Given the description of an element on the screen output the (x, y) to click on. 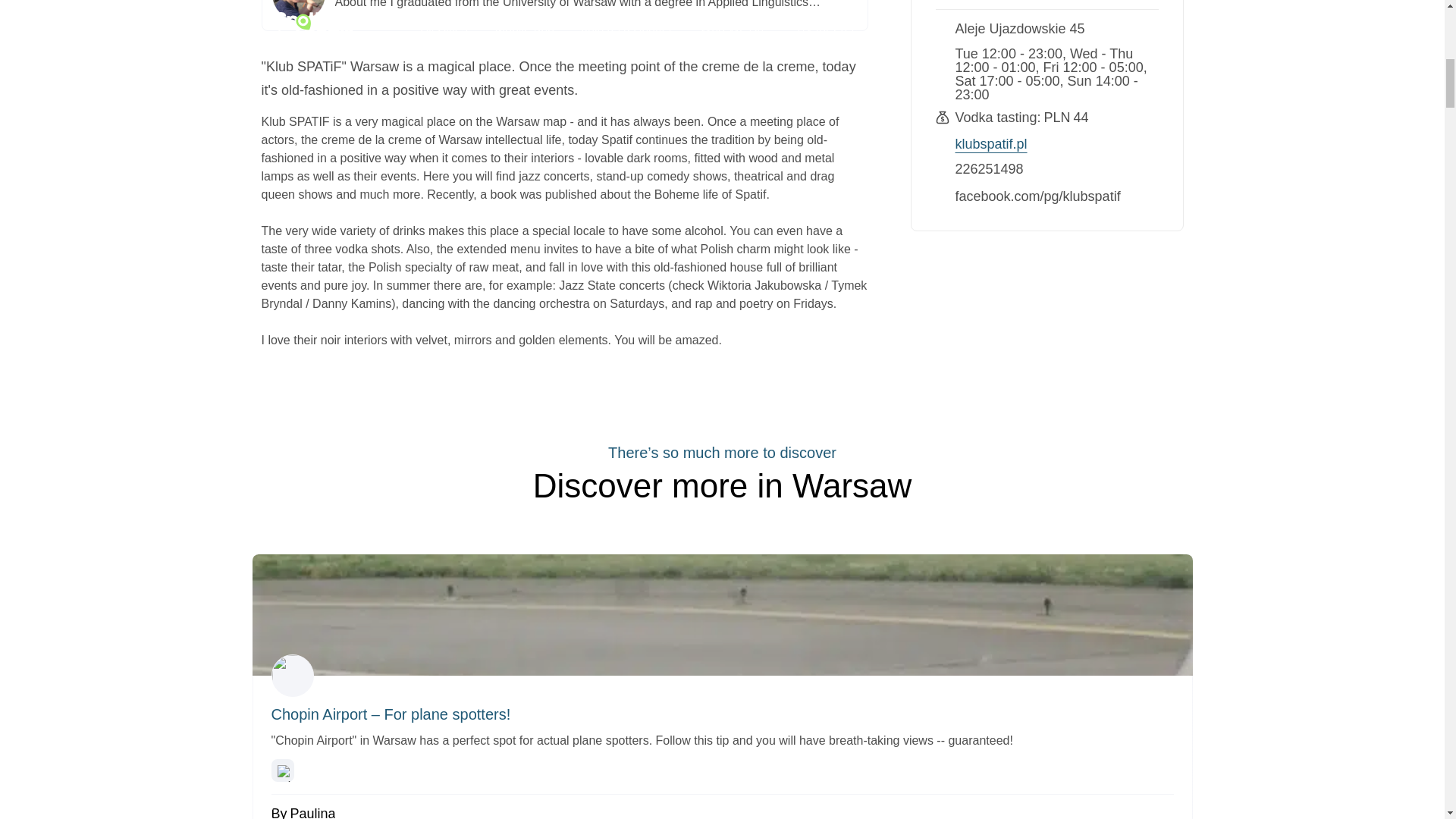
klubspatif.pl (991, 143)
